Given the description of an element on the screen output the (x, y) to click on. 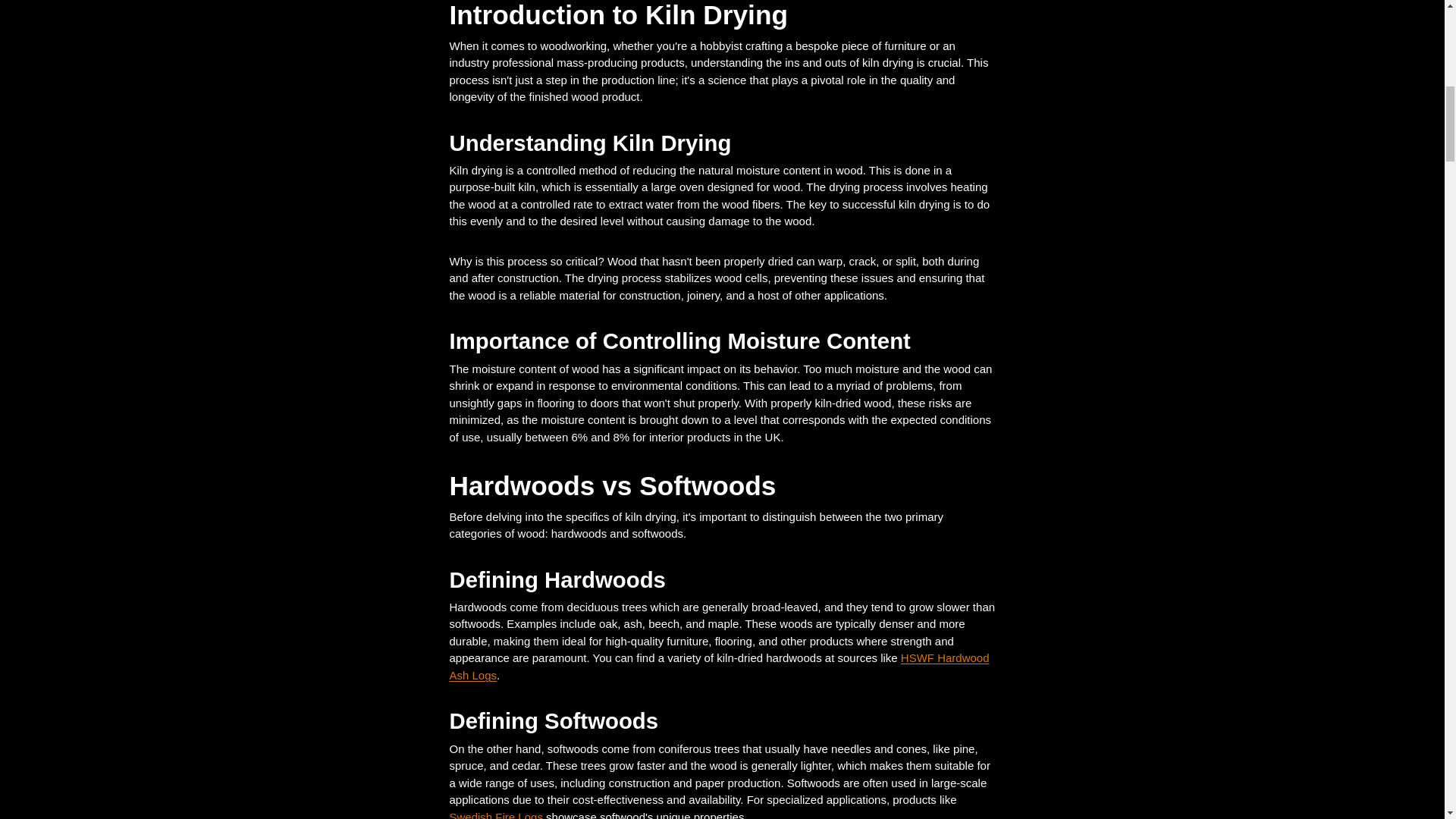
HSWF Hardwood Ash Logs (718, 666)
Environmental Impact of Kiln Drying (1410, 22)
Seasonal Adjustments in Kiln Drying (44, 22)
